Given the description of an element on the screen output the (x, y) to click on. 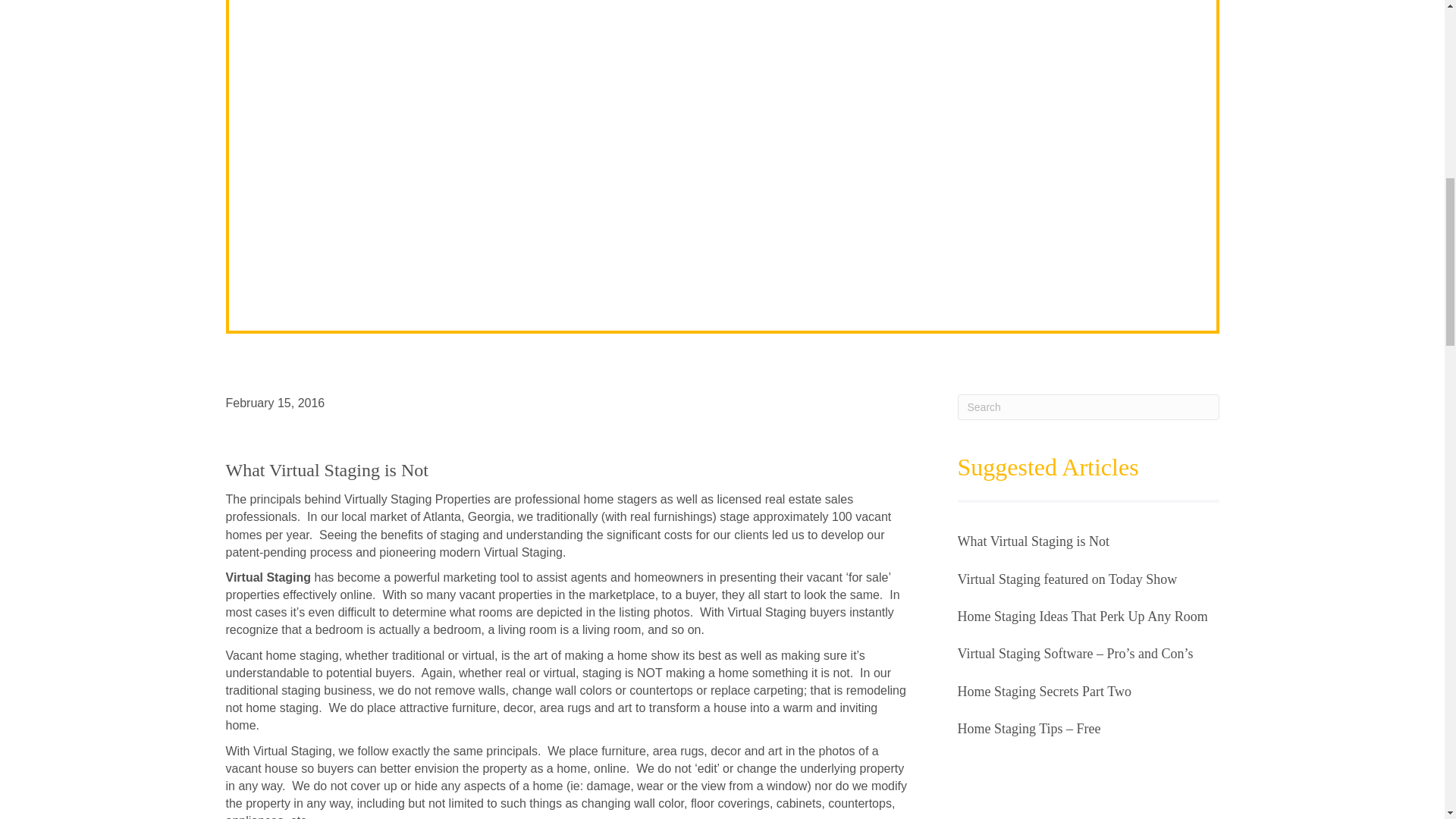
Virtual Staging featured on Today Show (1066, 579)
Virtual Staging featured on Today Show (1066, 579)
Type and press Enter to search. (1087, 406)
What Virtual Staging is Not (1032, 540)
Home Staging Ideas That Perk Up Any Room (1081, 616)
Home Staging Ideas That Perk Up Any Room (1081, 616)
Home Staging Secrets Part Two (1043, 691)
Home Staging Secrets Part Two (1043, 691)
What Virtual Staging is Not (1032, 540)
